Given the description of an element on the screen output the (x, y) to click on. 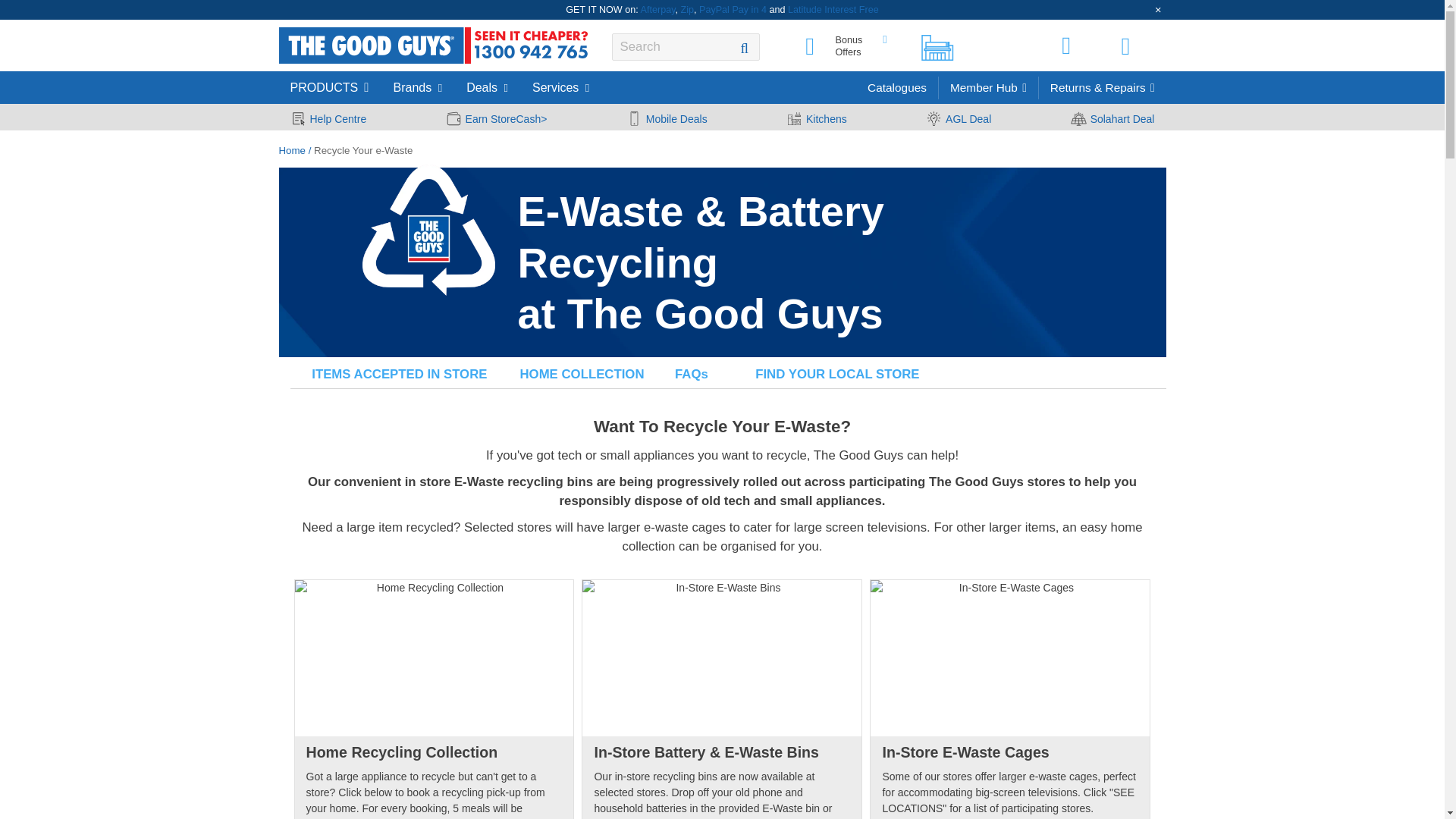
Latitude Interest Free (833, 9)
Search (744, 47)
PayPal Pay in 4 (732, 9)
Search (744, 47)
Zip (687, 9)
Afterpay (657, 9)
